Given the description of an element on the screen output the (x, y) to click on. 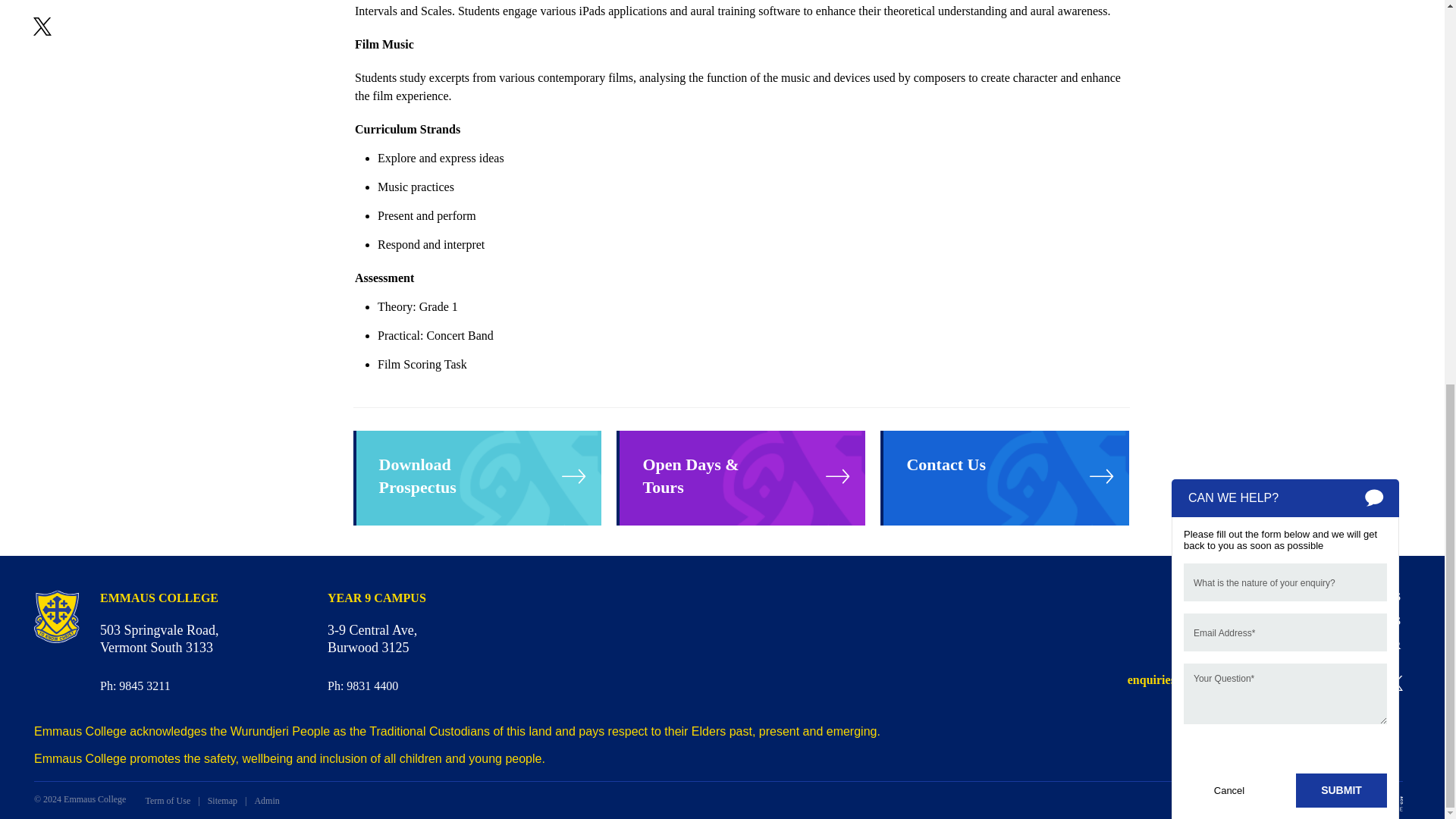
Created with Sketch. (1349, 683)
